Given the description of an element on the screen output the (x, y) to click on. 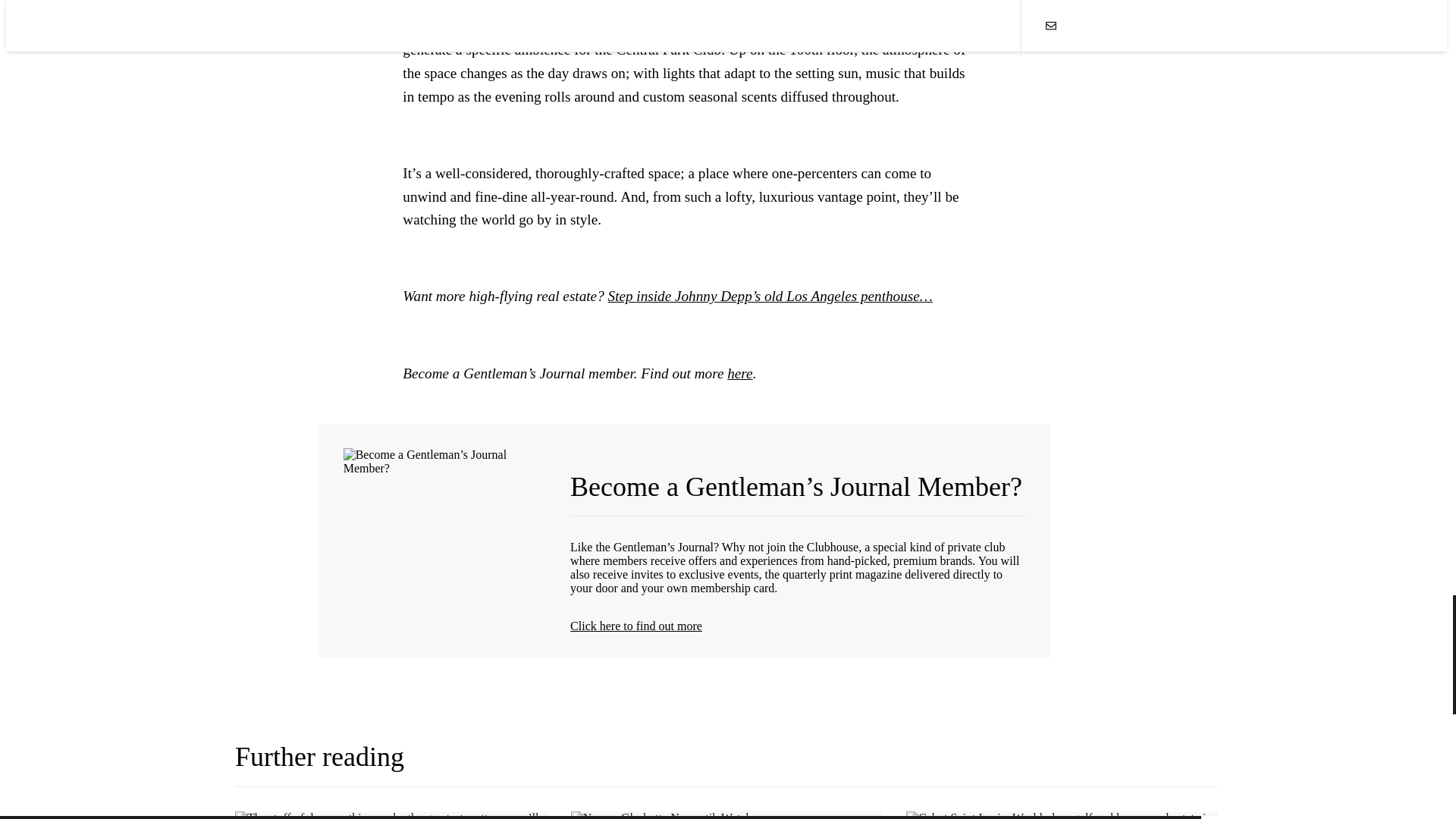
Click here to find out more (798, 626)
here (739, 373)
